Given the description of an element on the screen output the (x, y) to click on. 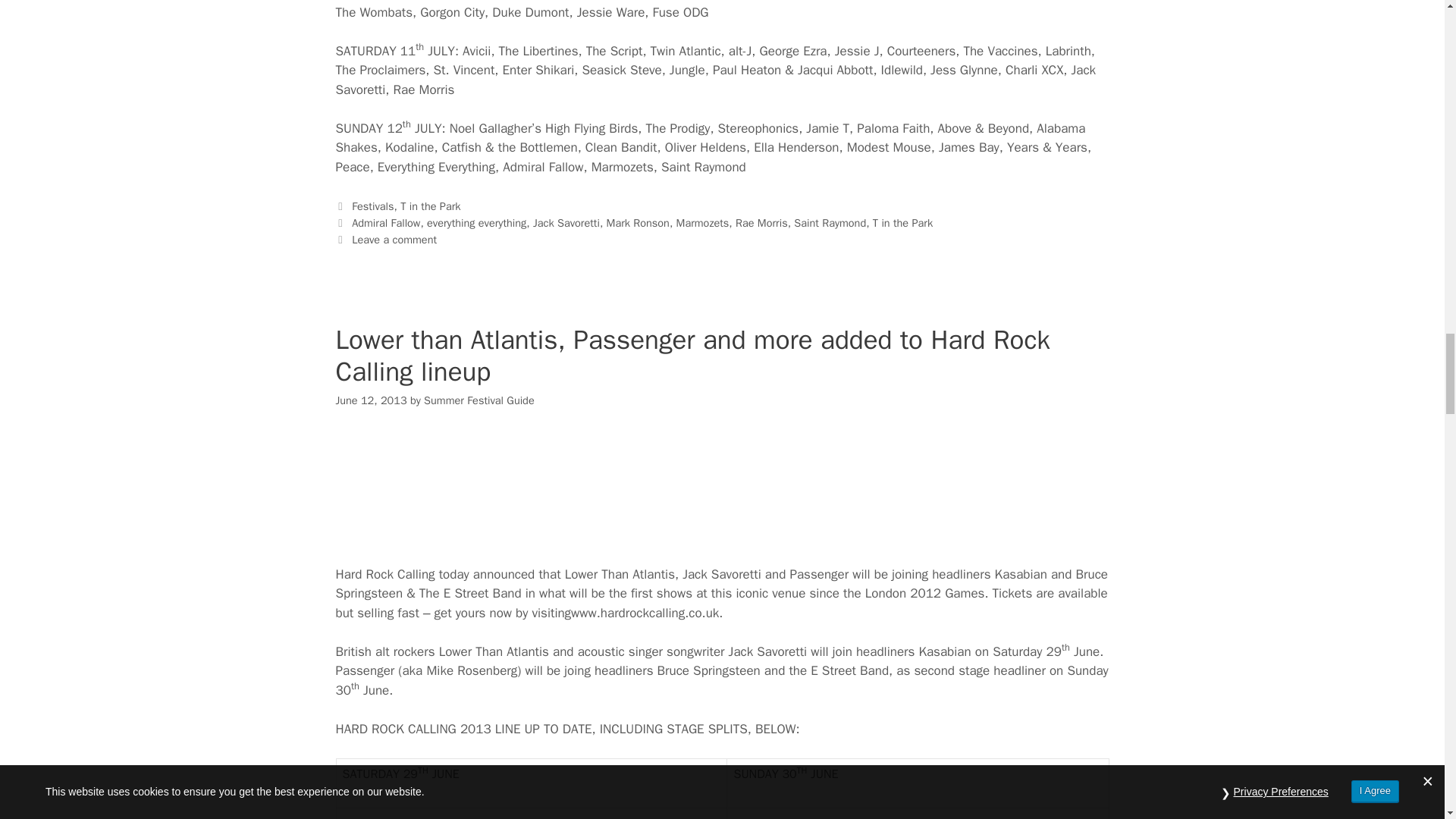
View all posts by Summer Festival Guide (478, 400)
